Given the description of an element on the screen output the (x, y) to click on. 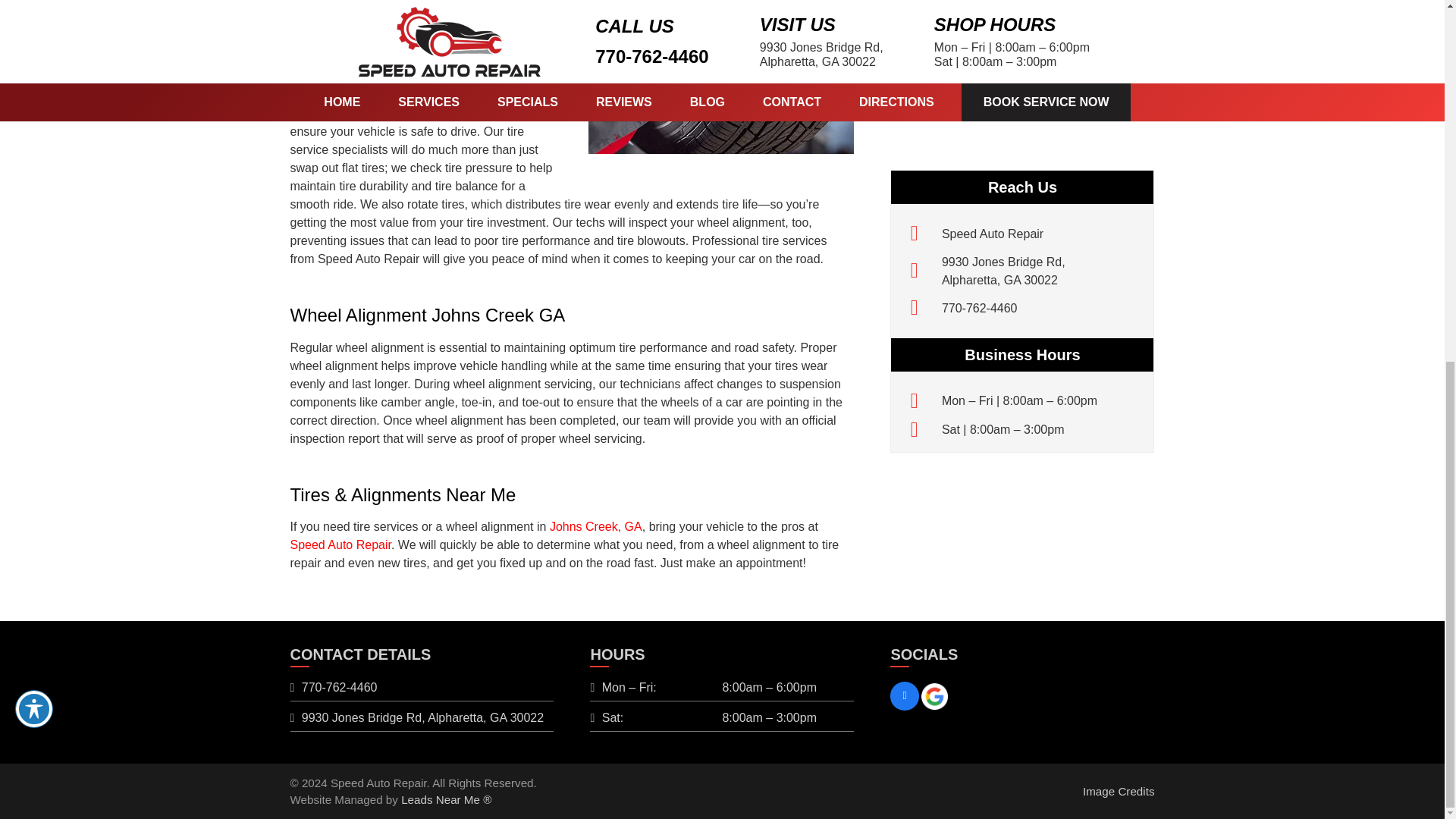
Back to top (1413, 202)
Speed Auto Repair (339, 544)
9930 Jones Bridge Rd, Alpharetta, GA 30022 (422, 717)
Johns Creek, GA (1003, 4)
770-762-4460 (596, 526)
770-762-4460 (979, 27)
Image Credits (339, 686)
Facebook (1118, 790)
